Given the description of an element on the screen output the (x, y) to click on. 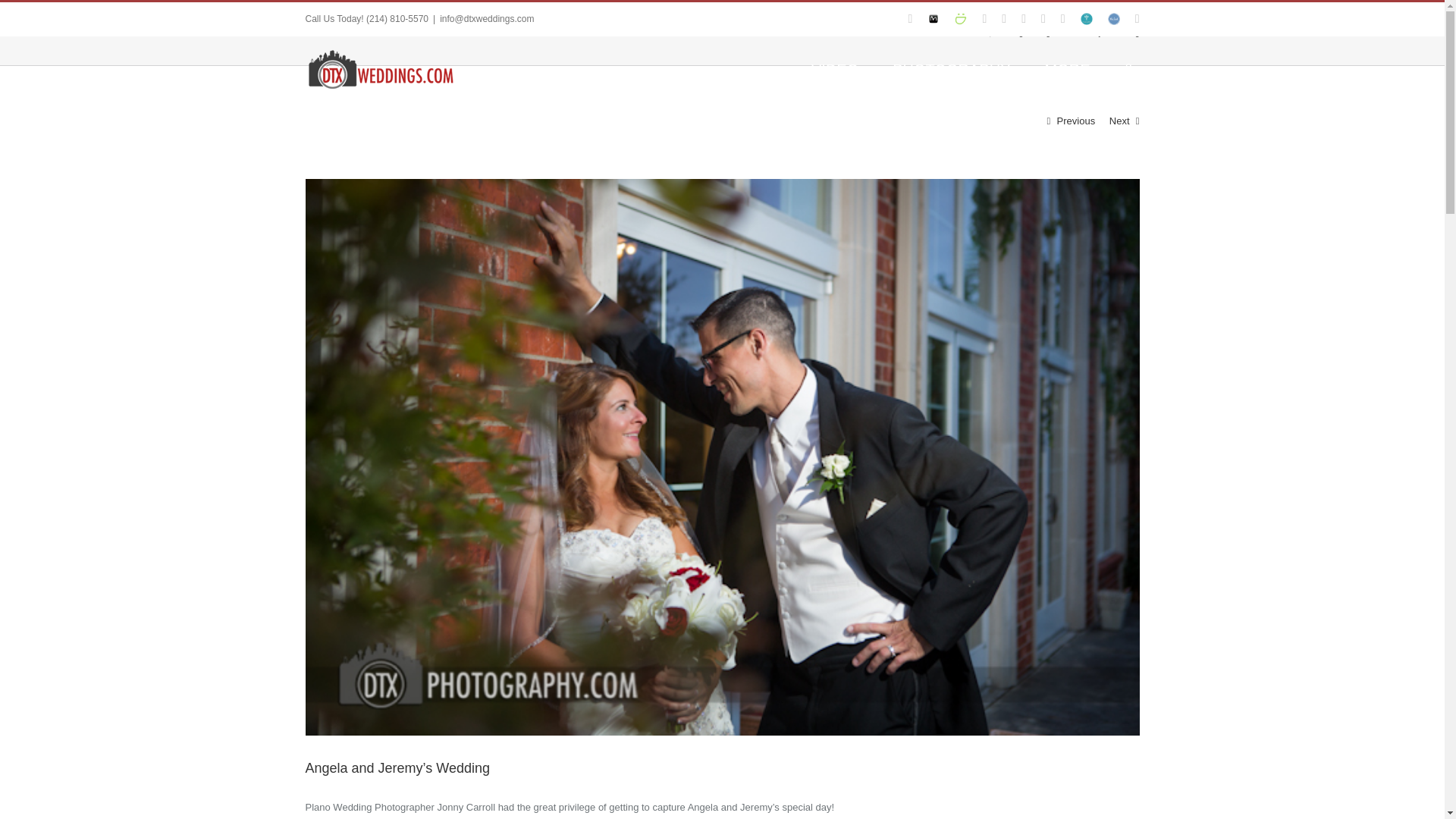
PHOTOGRAPHY (951, 67)
All Posts (974, 32)
Weddings (1009, 32)
Previous (1076, 121)
Home (940, 32)
